Given the description of an element on the screen output the (x, y) to click on. 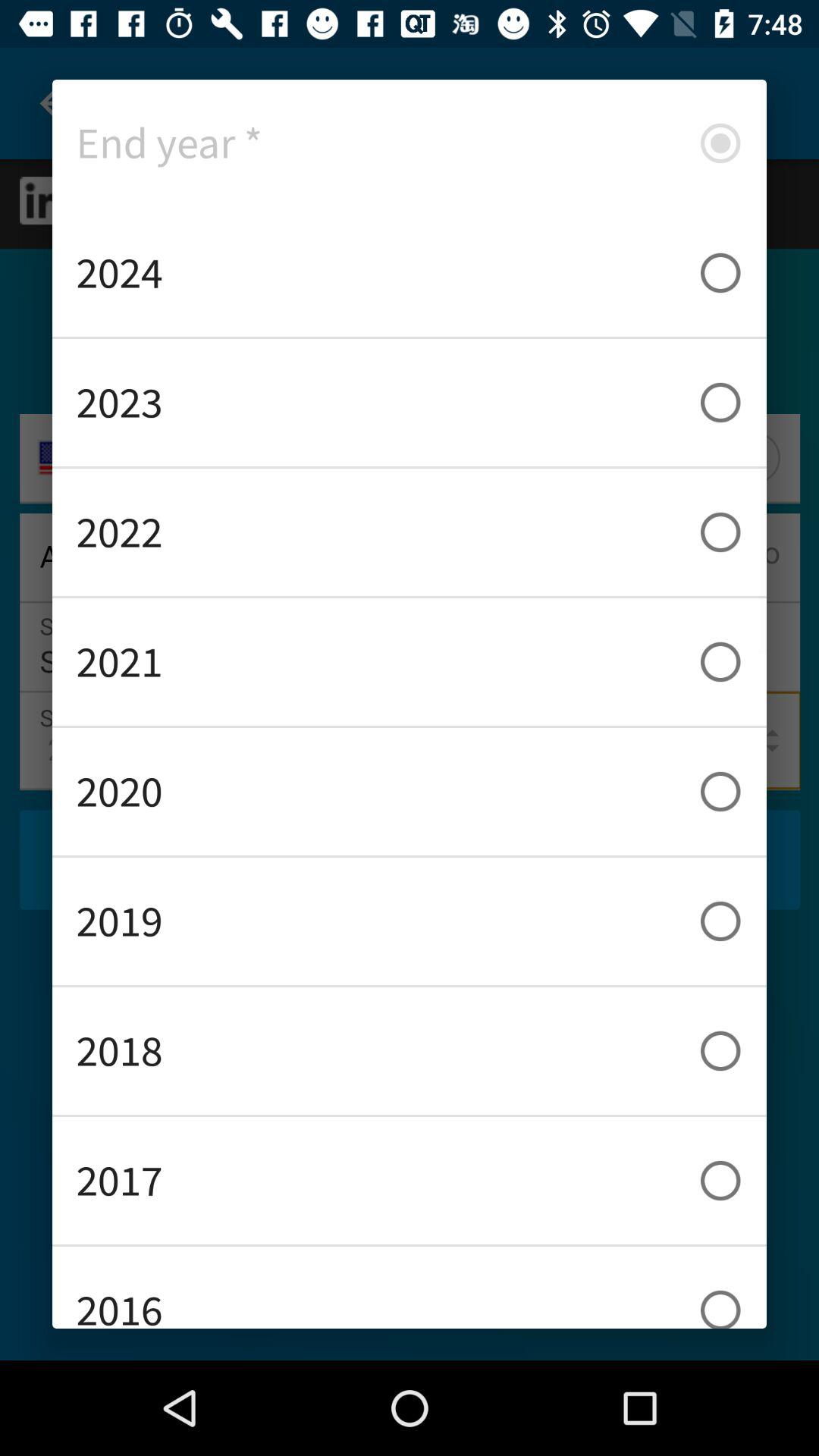
launch 2024 icon (409, 272)
